Given the description of an element on the screen output the (x, y) to click on. 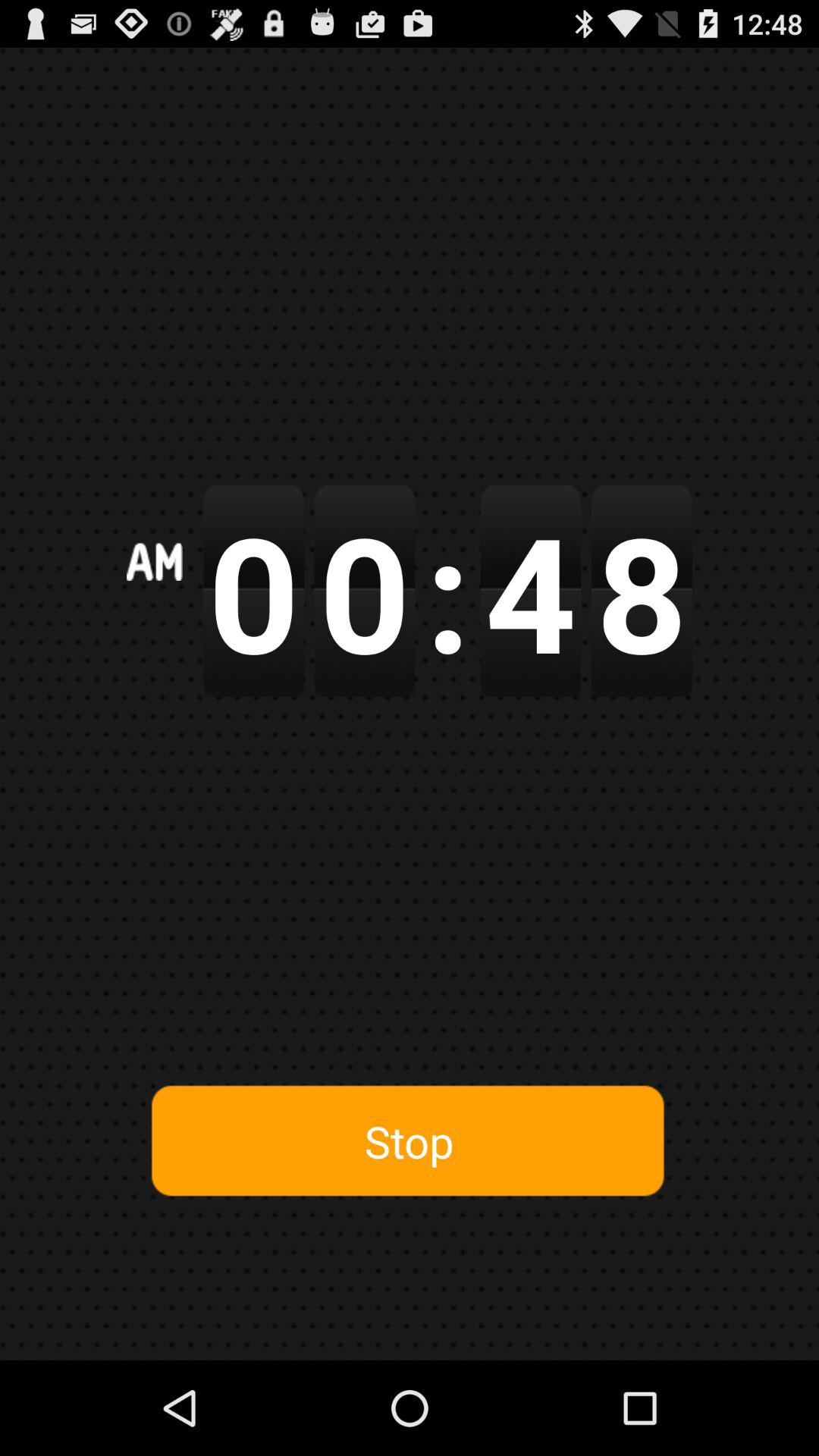
jump until stop (408, 1141)
